Given the description of an element on the screen output the (x, y) to click on. 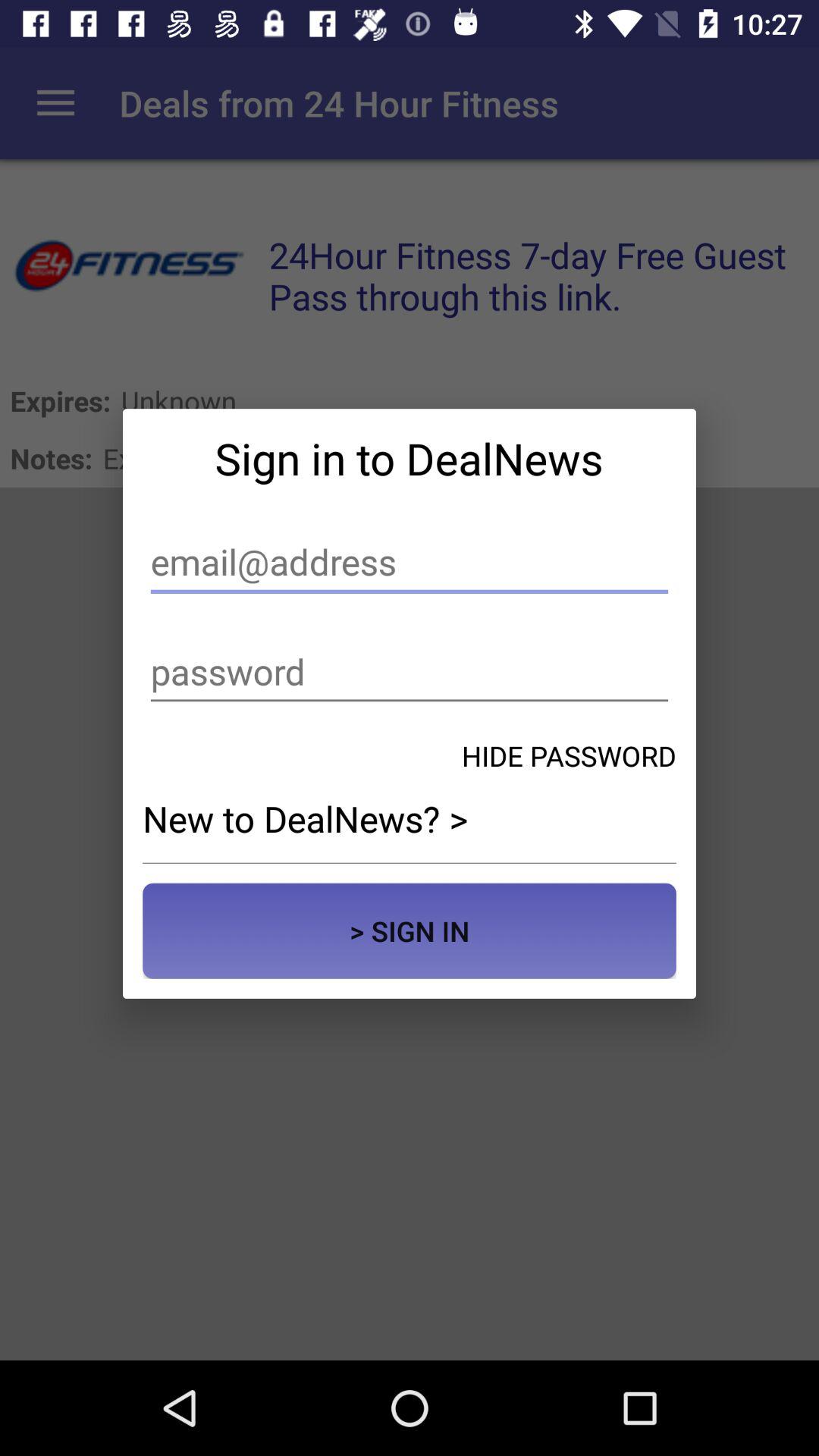
select icon below sign in to icon (409, 562)
